Given the description of an element on the screen output the (x, y) to click on. 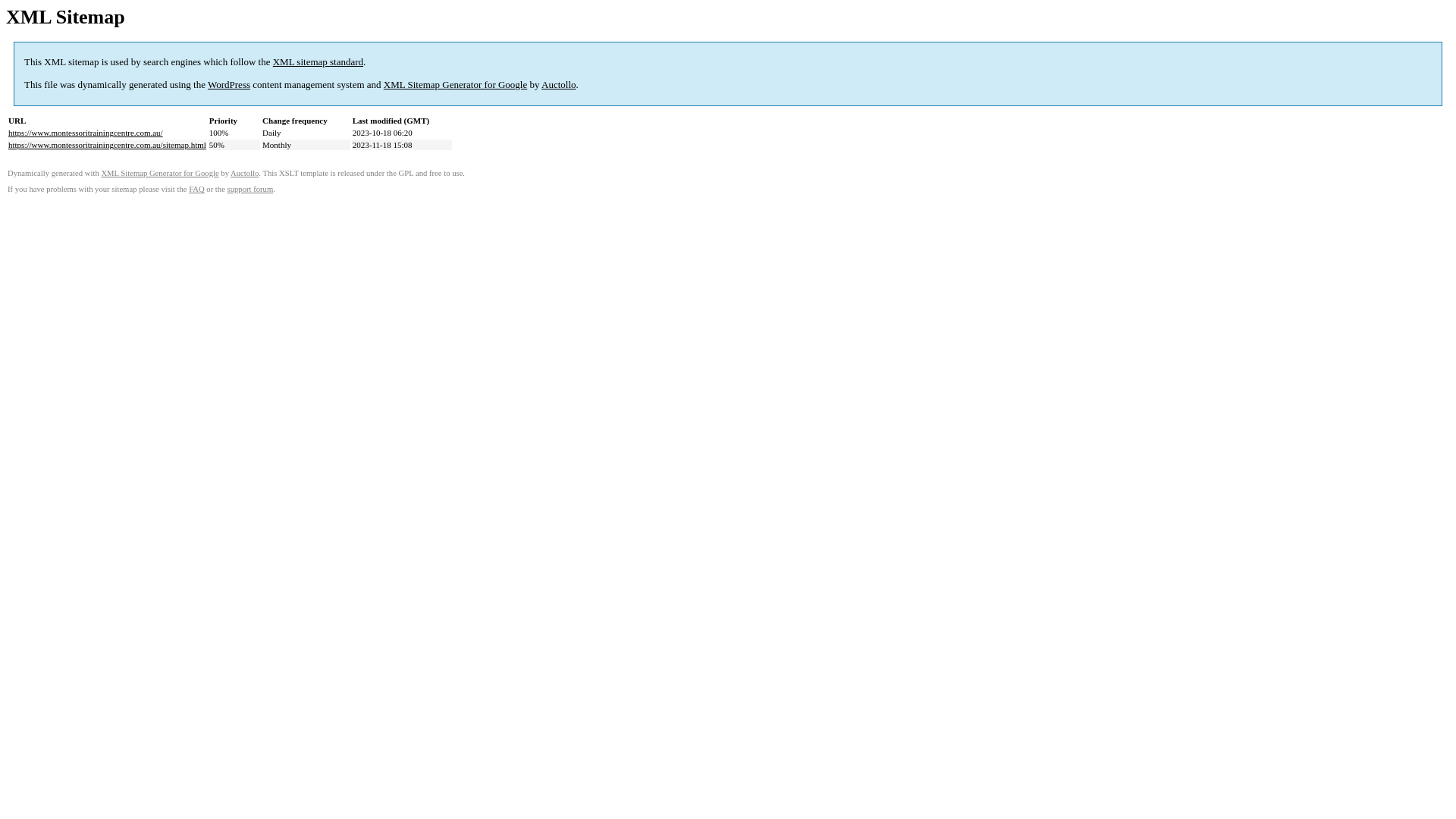
https://www.montessoritrainingcentre.com.au/sitemap.html Element type: text (107, 144)
WordPress Element type: text (228, 84)
FAQ Element type: text (196, 189)
Auctollo Element type: text (558, 84)
XML sitemap standard Element type: text (318, 61)
https://www.montessoritrainingcentre.com.au/ Element type: text (85, 132)
XML Sitemap Generator for Google Element type: text (159, 173)
Auctollo Element type: text (244, 173)
XML Sitemap Generator for Google Element type: text (455, 84)
support forum Element type: text (250, 189)
